Given the description of an element on the screen output the (x, y) to click on. 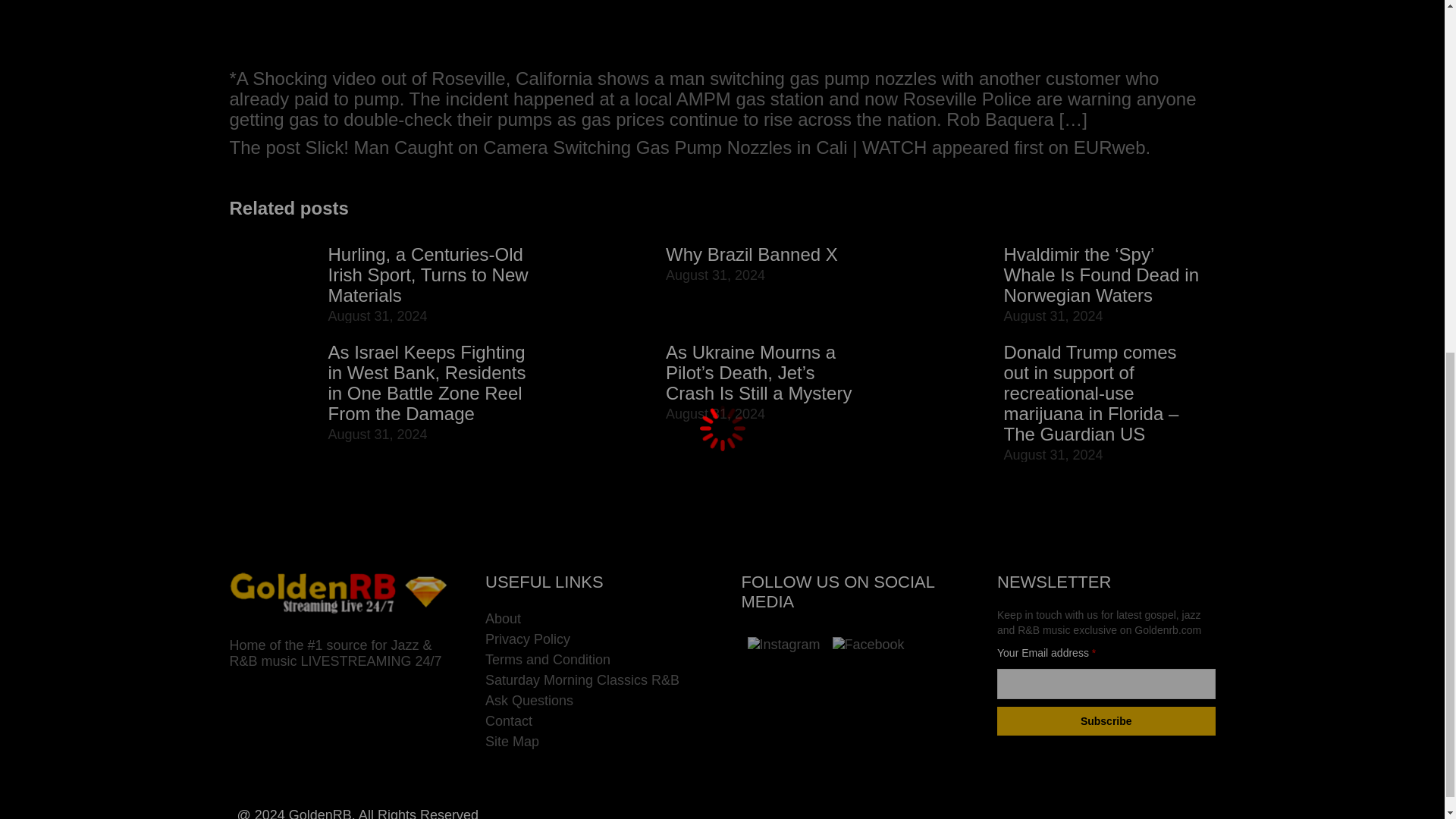
Facebook (868, 644)
Hurling, a Centuries-Old Irish Sport, Turns to New Materials (428, 274)
Facebook (869, 644)
Instagram (784, 644)
Subscribe (1106, 720)
Why Brazil Banned X (751, 254)
Instagram (784, 644)
